Given the description of an element on the screen output the (x, y) to click on. 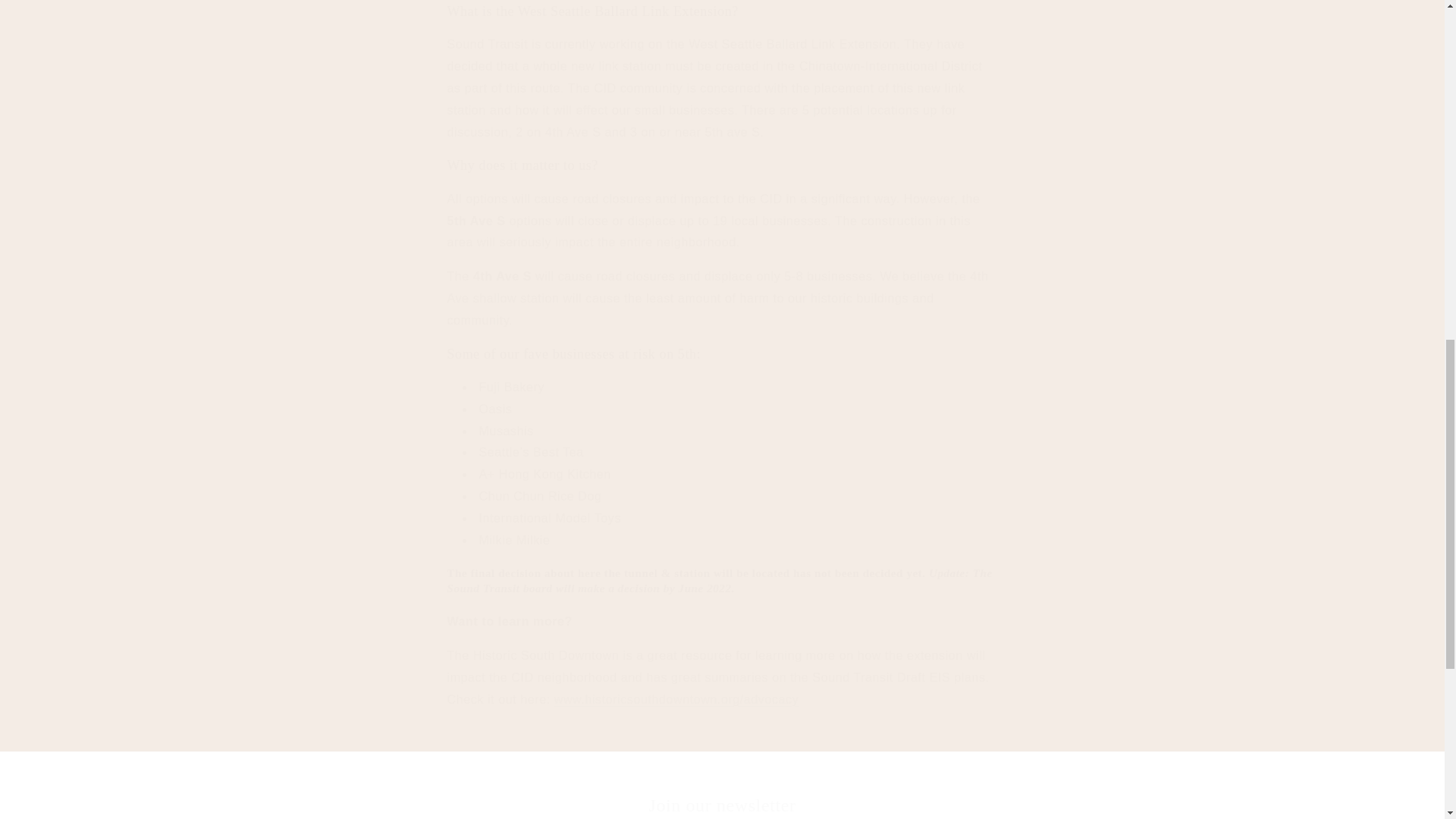
Join our newsletter (721, 805)
